Given the description of an element on the screen output the (x, y) to click on. 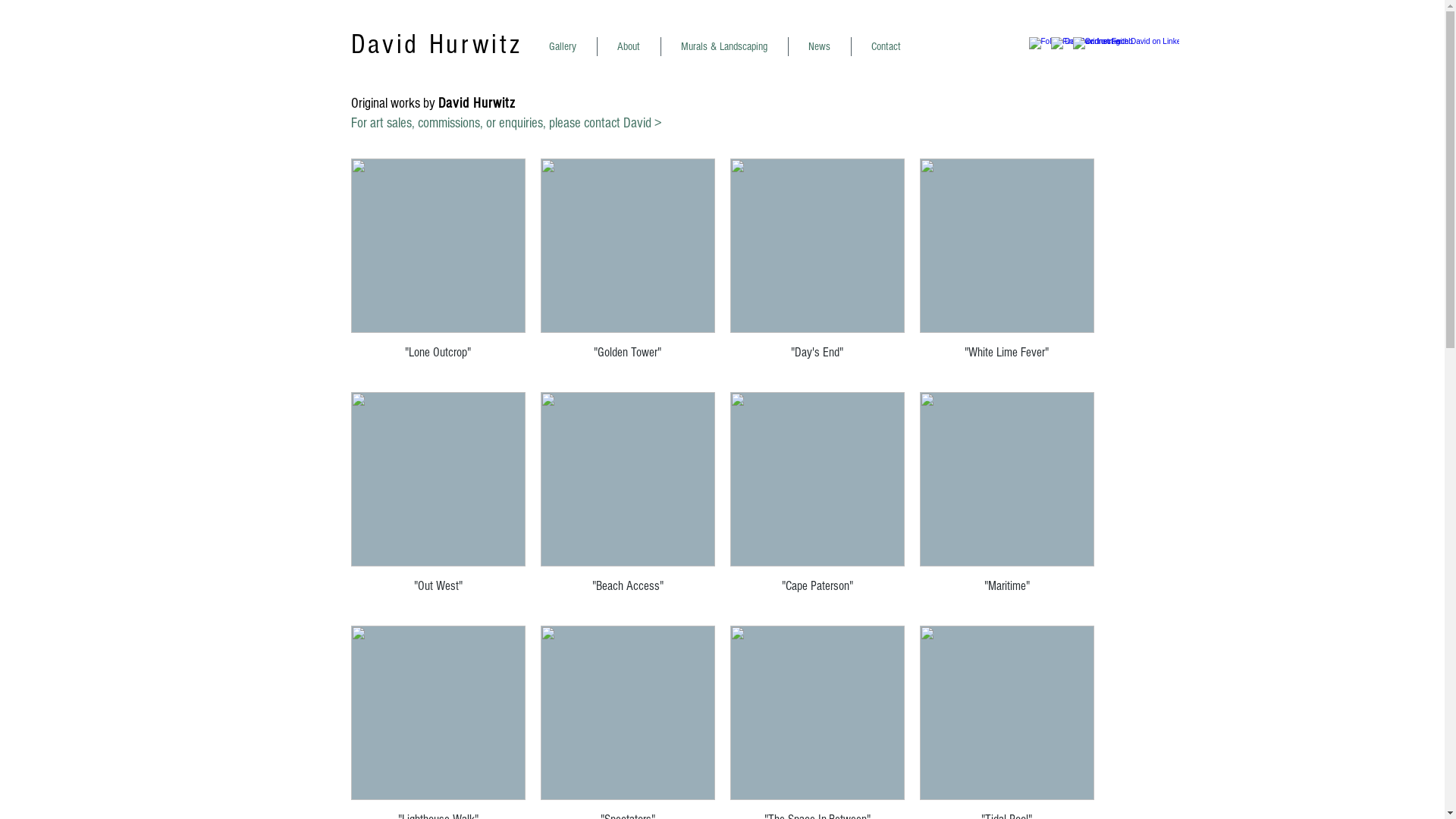
Gallery Element type: text (562, 46)
Contact Element type: text (884, 46)
News Element type: text (819, 46)
Murals & Landscaping Element type: text (724, 46)
About Element type: text (628, 46)
Original works by David Hurwitz Element type: text (432, 102)
